Given the description of an element on the screen output the (x, y) to click on. 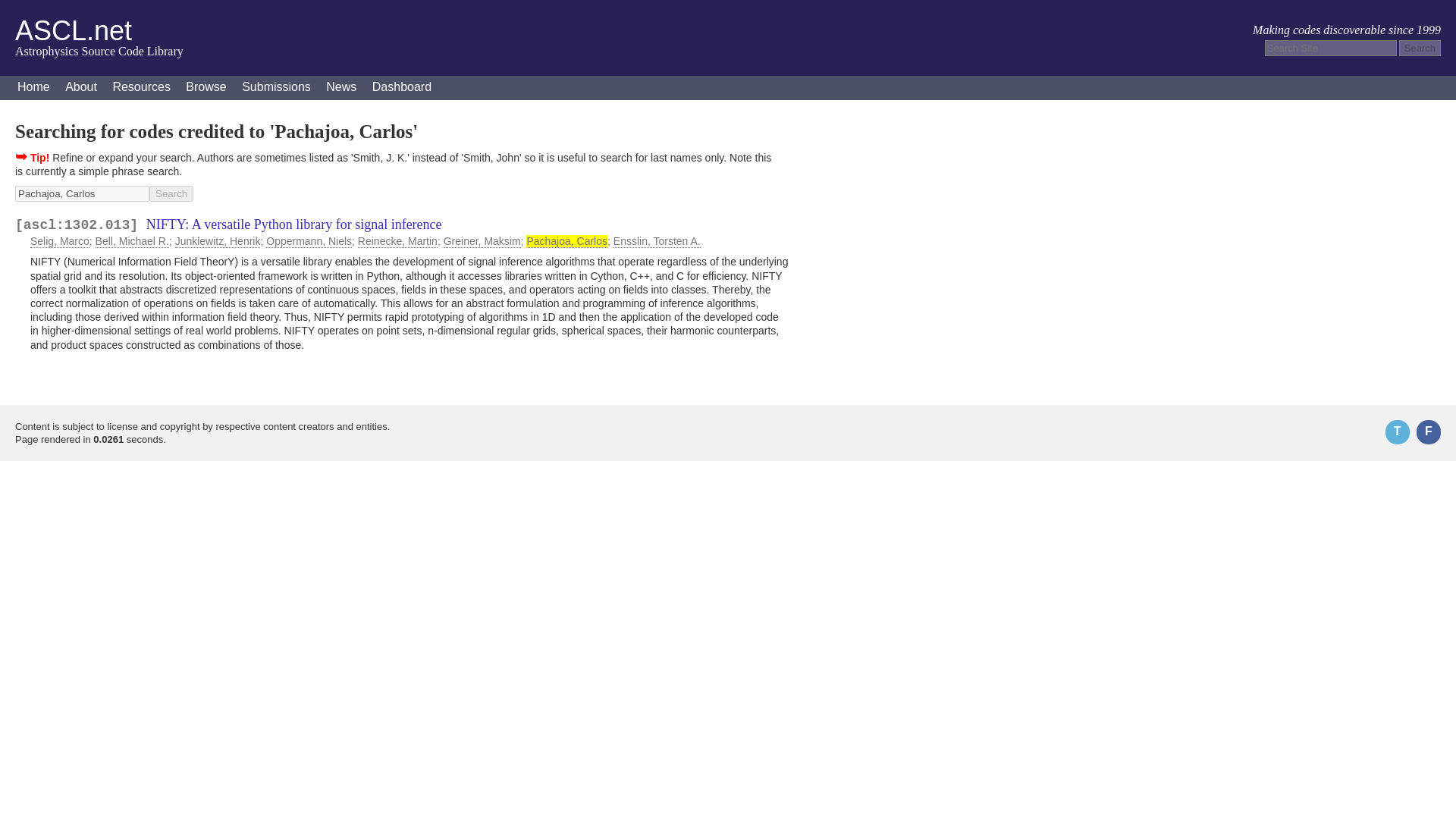
Like ASCL on Facebook (1428, 432)
Search (1420, 48)
Reinecke, Martin (398, 241)
T (1397, 432)
Bell, Michael R. (132, 241)
Search (171, 193)
Search (171, 193)
NIFTY: A versatile Python library for signal inference (294, 224)
Selig, Marco (59, 241)
Home (33, 87)
Pachajoa, Carlos (566, 241)
Dashboard (402, 87)
F (1428, 432)
About (81, 87)
Ensslin, Torsten A. (656, 241)
